Given the description of an element on the screen output the (x, y) to click on. 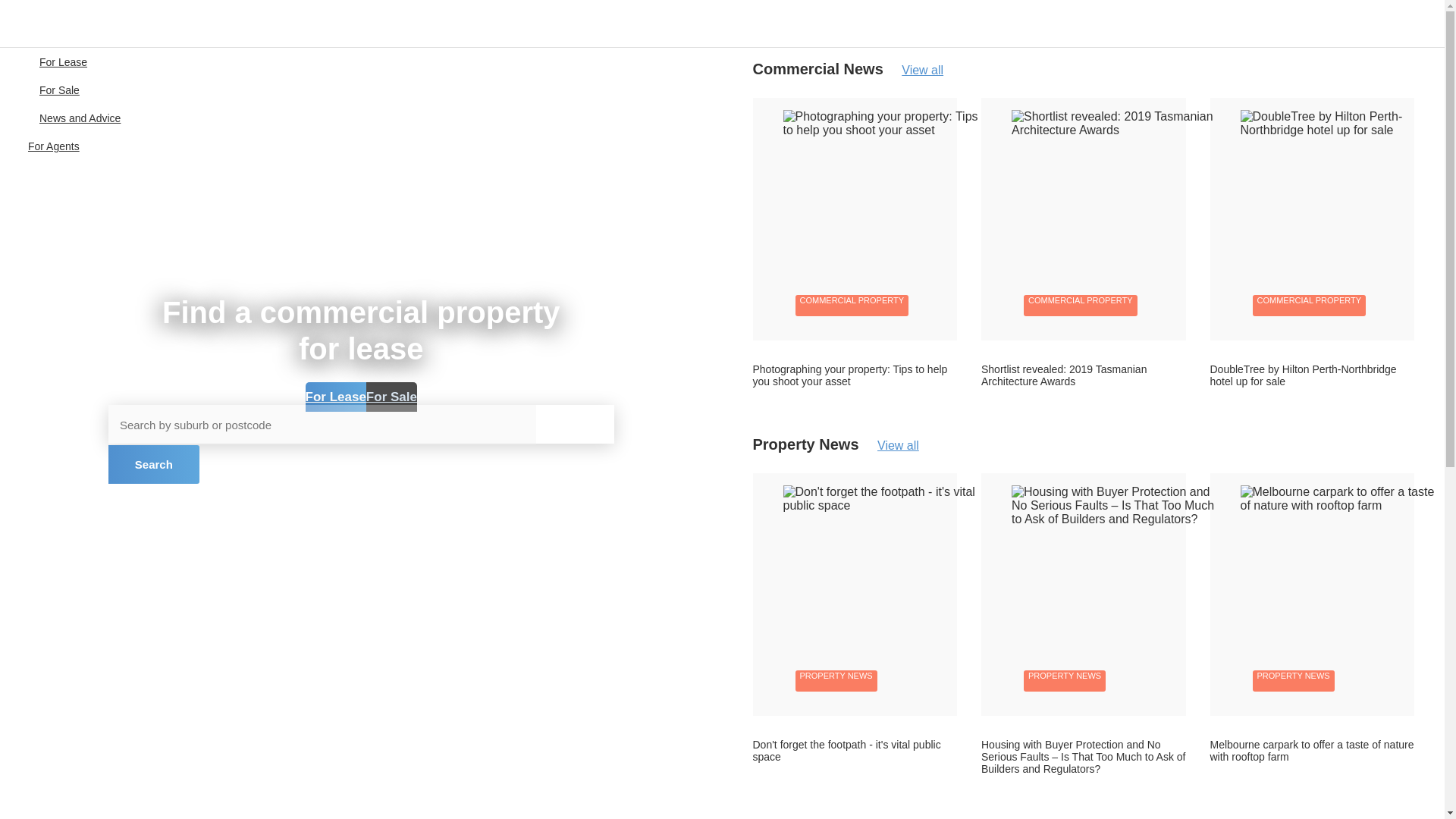
Lease.com.au (68, 22)
For Sale (58, 90)
For Agents (52, 146)
lease.com.au homepage (68, 22)
Search (153, 464)
Search (153, 464)
For Sale (391, 396)
View all (889, 445)
Search (153, 464)
View all (914, 69)
